Given the description of an element on the screen output the (x, y) to click on. 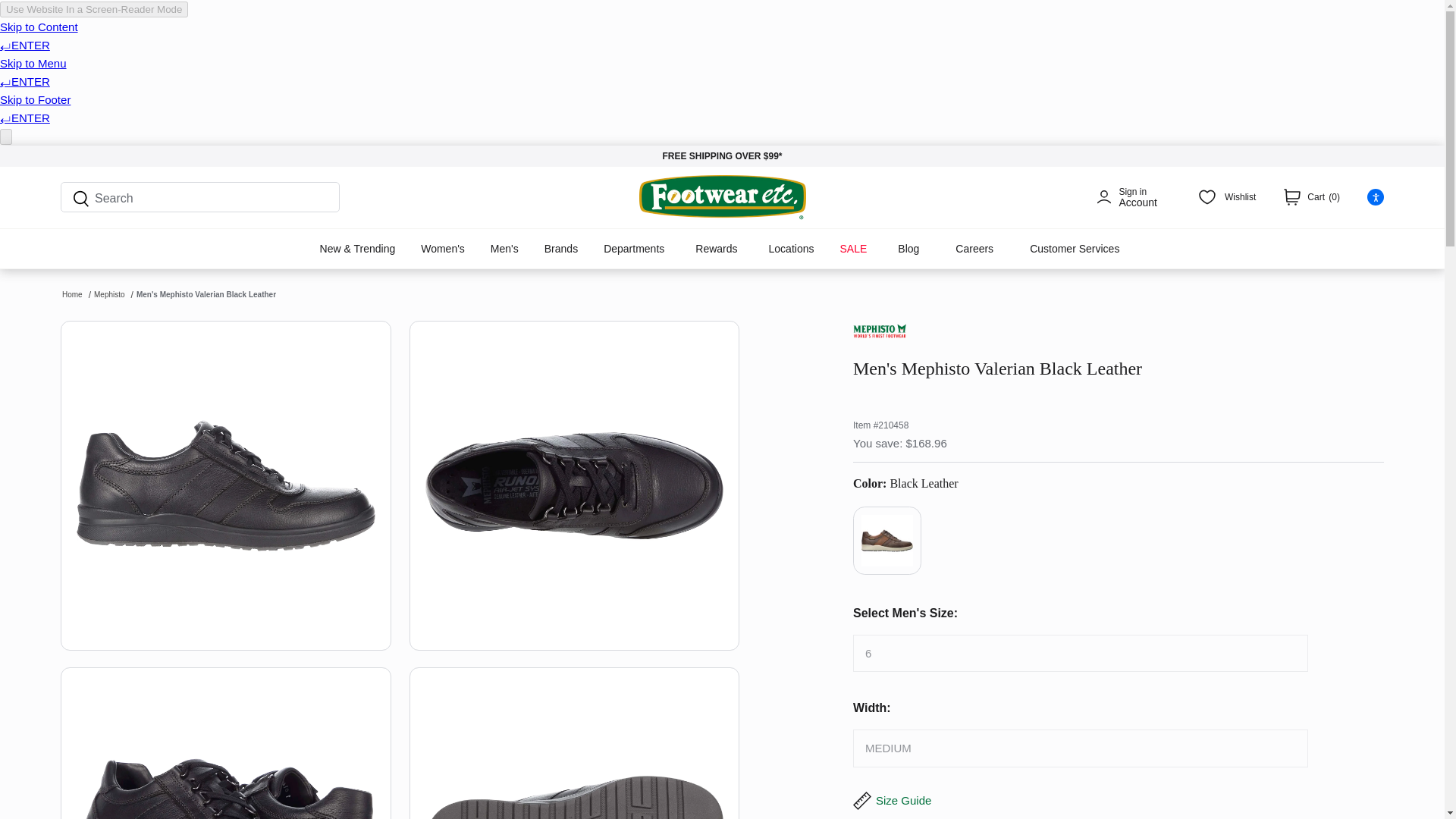
Wishlist (1227, 197)
View Wishlist (1227, 197)
Footwear etc. (722, 197)
Skip to content (1126, 197)
